Given the description of an element on the screen output the (x, y) to click on. 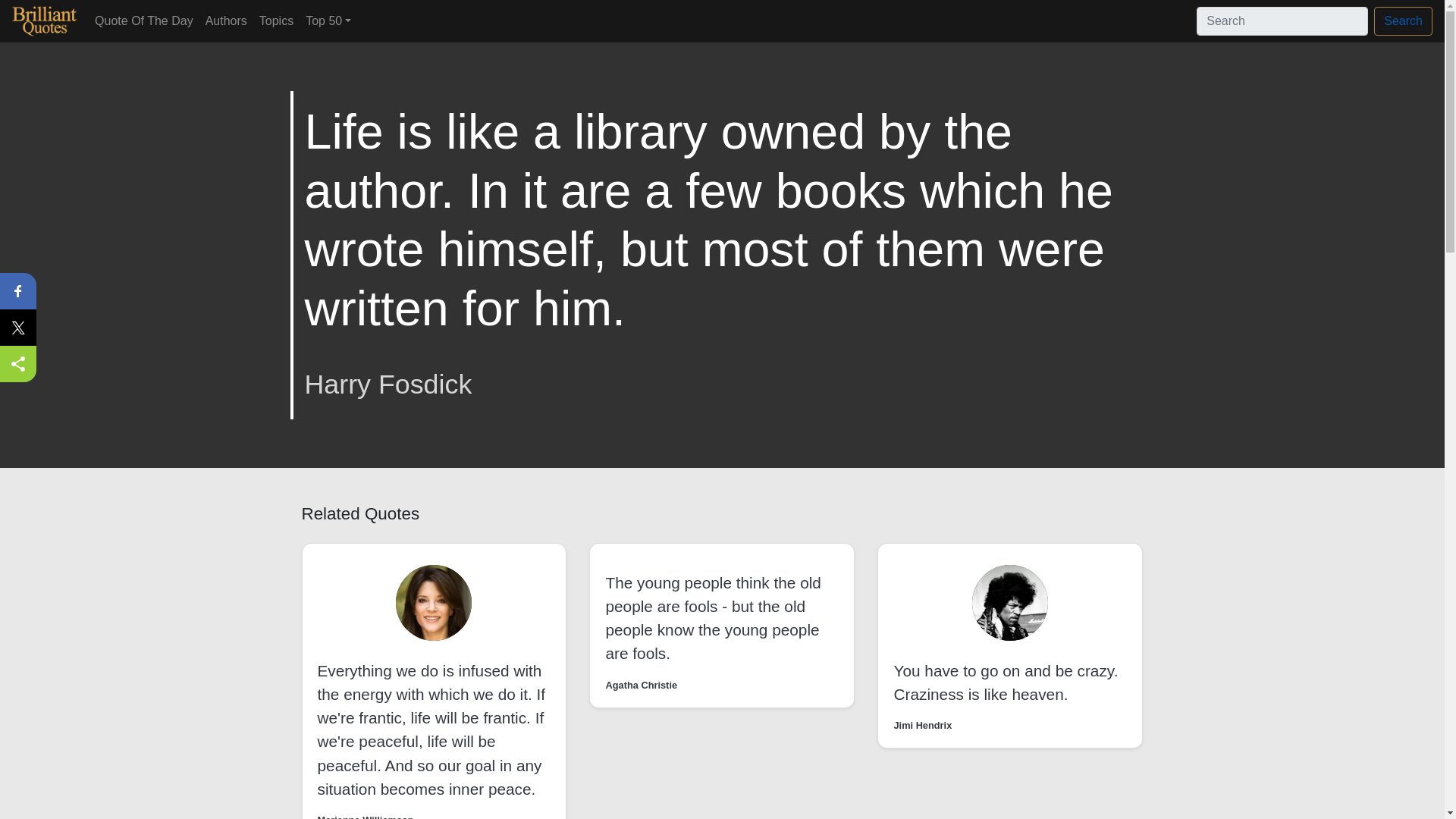
Agatha Christie (641, 685)
Topics (276, 20)
You have to go on and be crazy. Craziness is like heaven. (1005, 681)
Top 50 (327, 20)
Search (1403, 21)
Marianne Williamson (365, 816)
Authors (226, 20)
Quote Of The Day (143, 20)
Jimi Hendrix (922, 725)
